Given the description of an element on the screen output the (x, y) to click on. 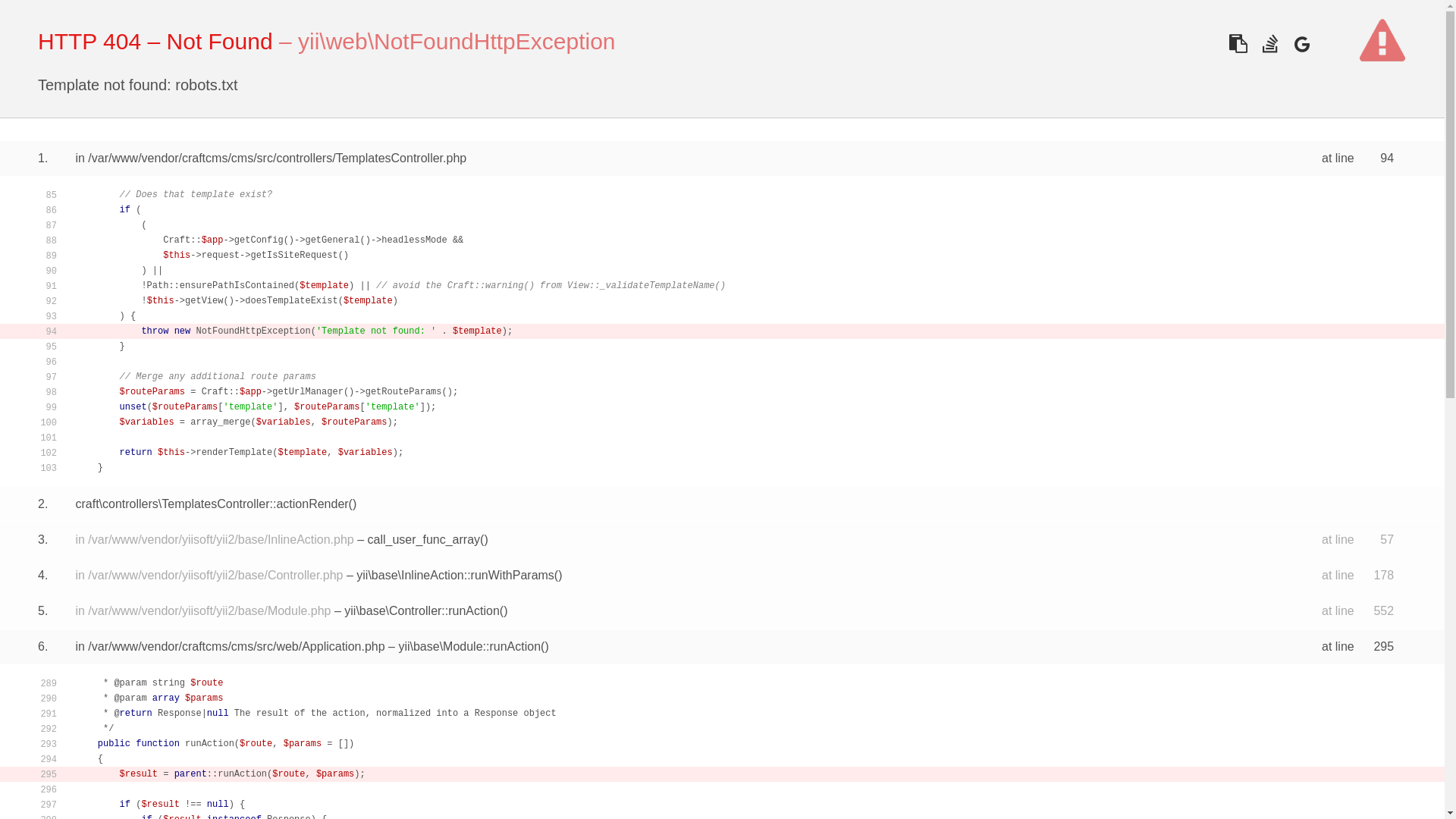
yii\base\InlineAction::runWithParams Element type: text (455, 574)
yii\base\Module::runAction Element type: text (469, 646)
Search error on Stackoverflow Element type: hover (1269, 43)
yii\web\NotFoundHttpException Element type: text (456, 40)
yii\base\Controller::runAction Element type: text (421, 610)
Copy the stacktrace for use in a bug report or pastebin Element type: hover (1237, 43)
Search error on Google Element type: hover (1301, 43)
